Given the description of an element on the screen output the (x, y) to click on. 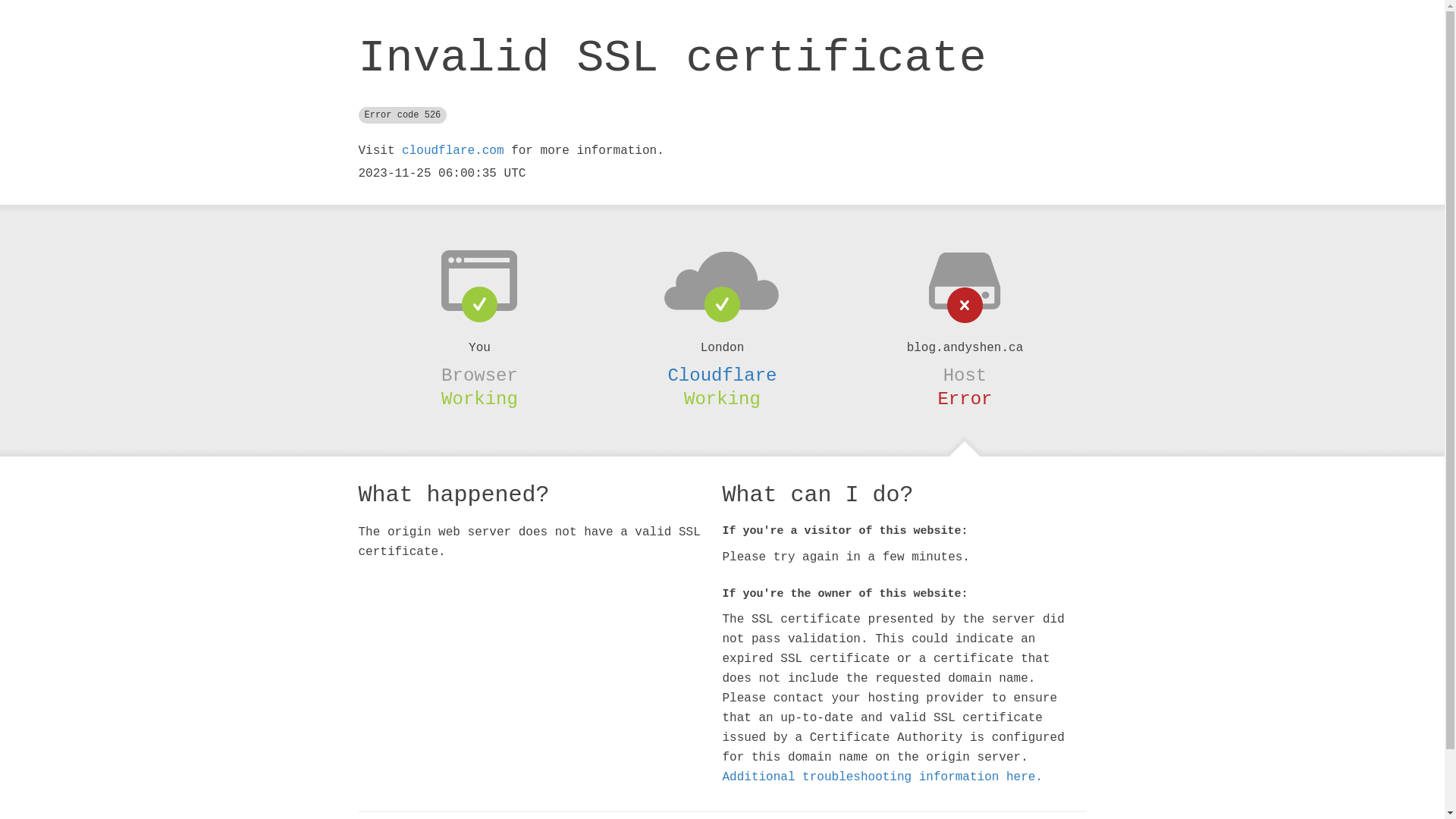
Cloudflare Element type: text (721, 375)
Additional troubleshooting information here. Element type: text (881, 777)
cloudflare.com Element type: text (452, 150)
